Given the description of an element on the screen output the (x, y) to click on. 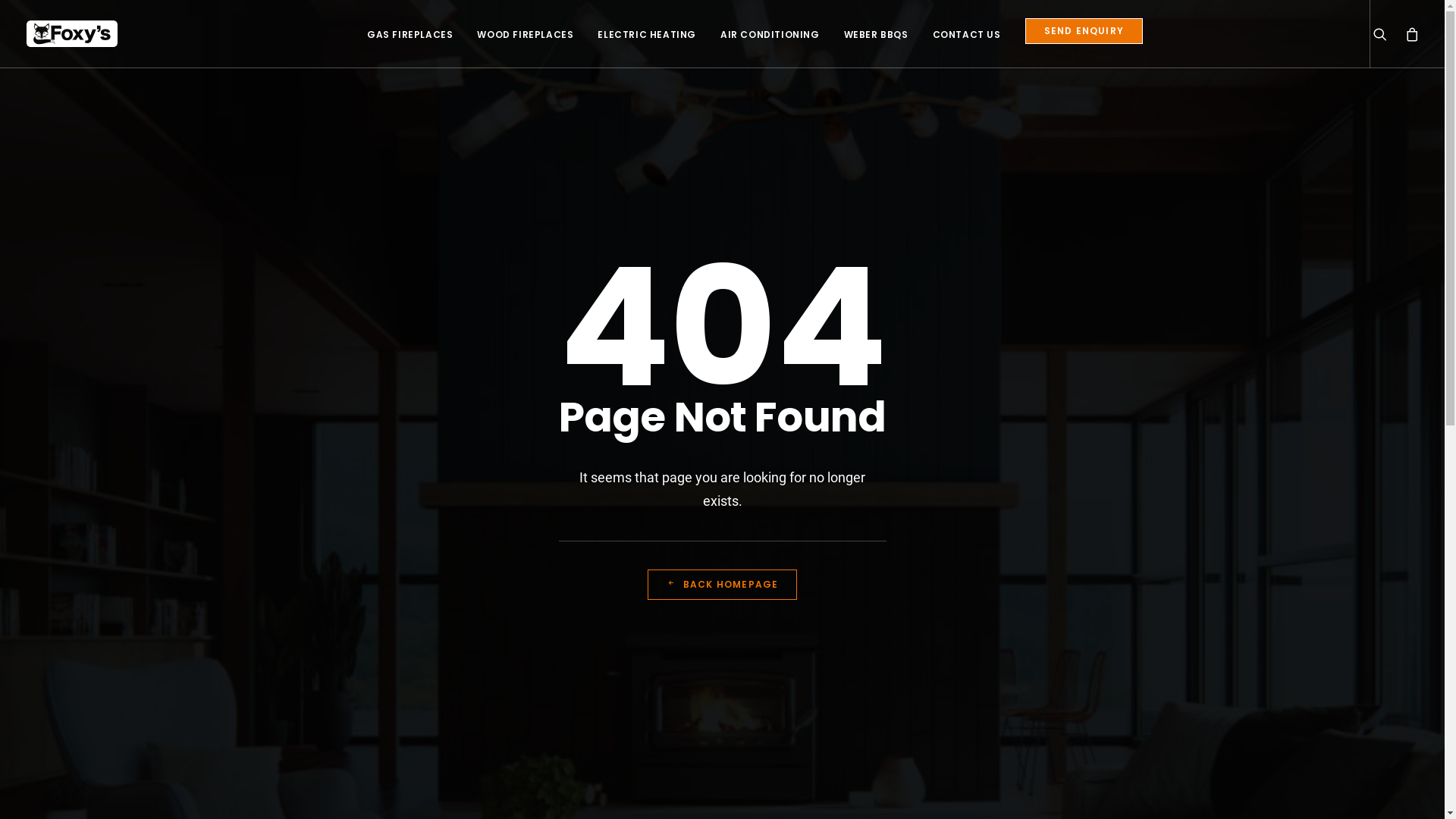
WEBER BBQS Element type: text (876, 33)
cart Element type: hover (1407, 33)
SEND ENQUIRY Element type: text (1083, 30)
BACK HOMEPAGE Element type: text (722, 584)
ELECTRIC HEATING Element type: text (646, 33)
CONTACT US Element type: text (966, 33)
AIR CONDITIONING Element type: text (769, 33)
GAS FIREPLACES Element type: text (409, 33)
WOOD FIREPLACES Element type: text (524, 33)
